Given the description of an element on the screen output the (x, y) to click on. 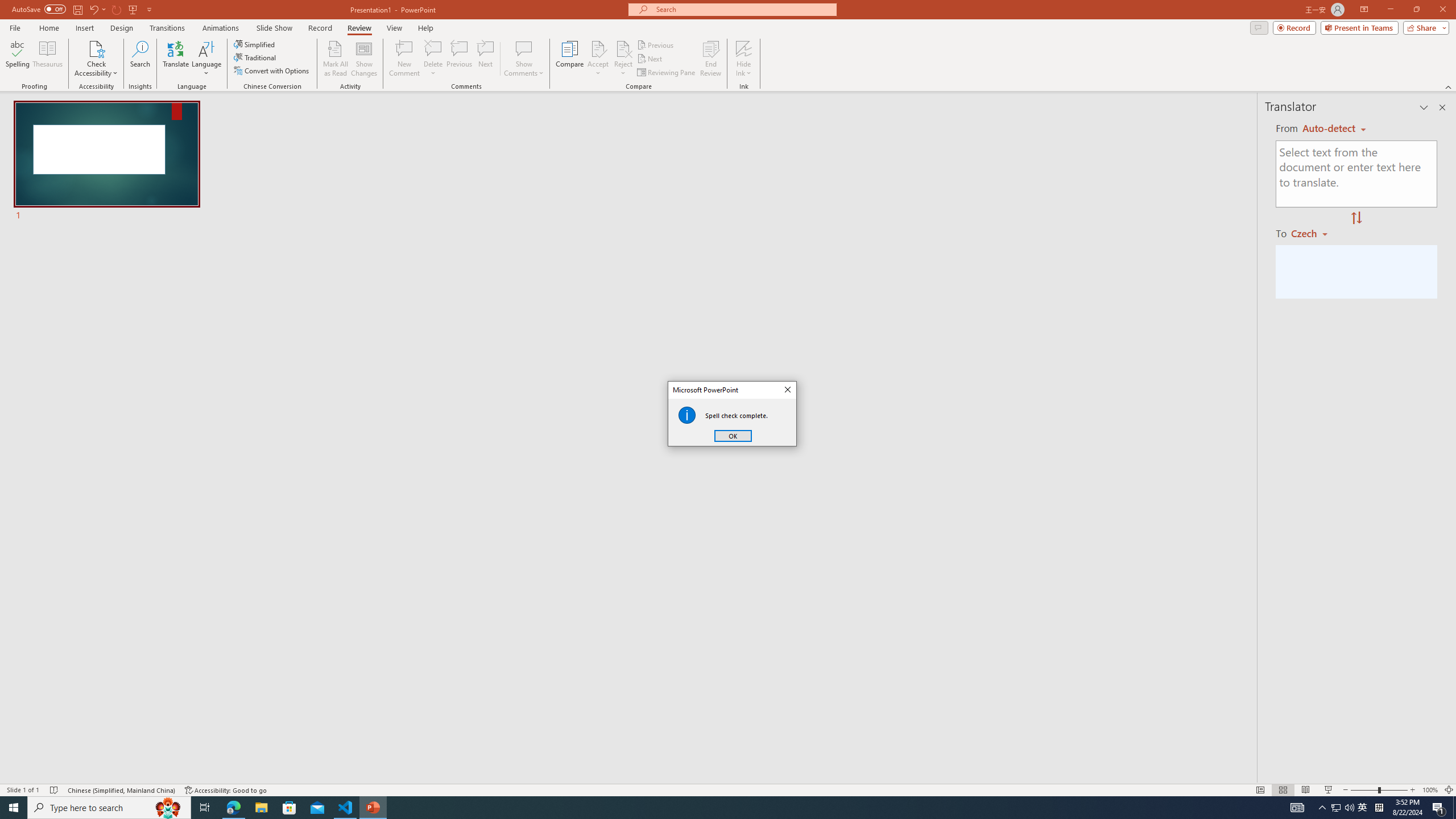
Thesaurus... (47, 58)
Translate (175, 58)
Accept (598, 58)
Simplified (254, 44)
